Given the description of an element on the screen output the (x, y) to click on. 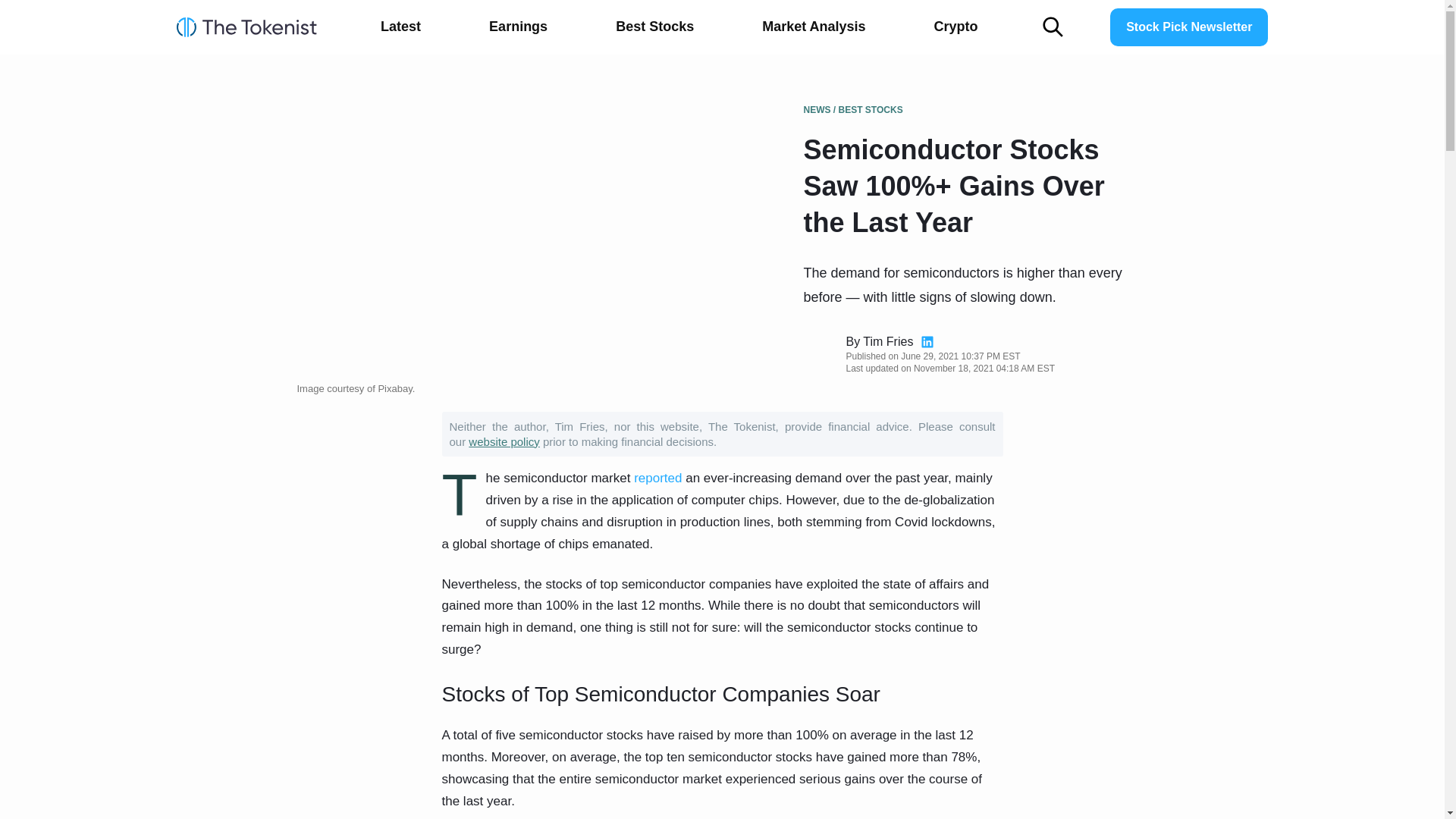
BEST STOCKS (870, 109)
Tim Fries (887, 341)
website policy (503, 440)
Best Stocks (654, 27)
reported (657, 477)
Earnings (517, 27)
Stock Pick Newsletter (1188, 26)
Market Analysis (813, 27)
NEWS (817, 109)
Crypto (955, 27)
